Given the description of an element on the screen output the (x, y) to click on. 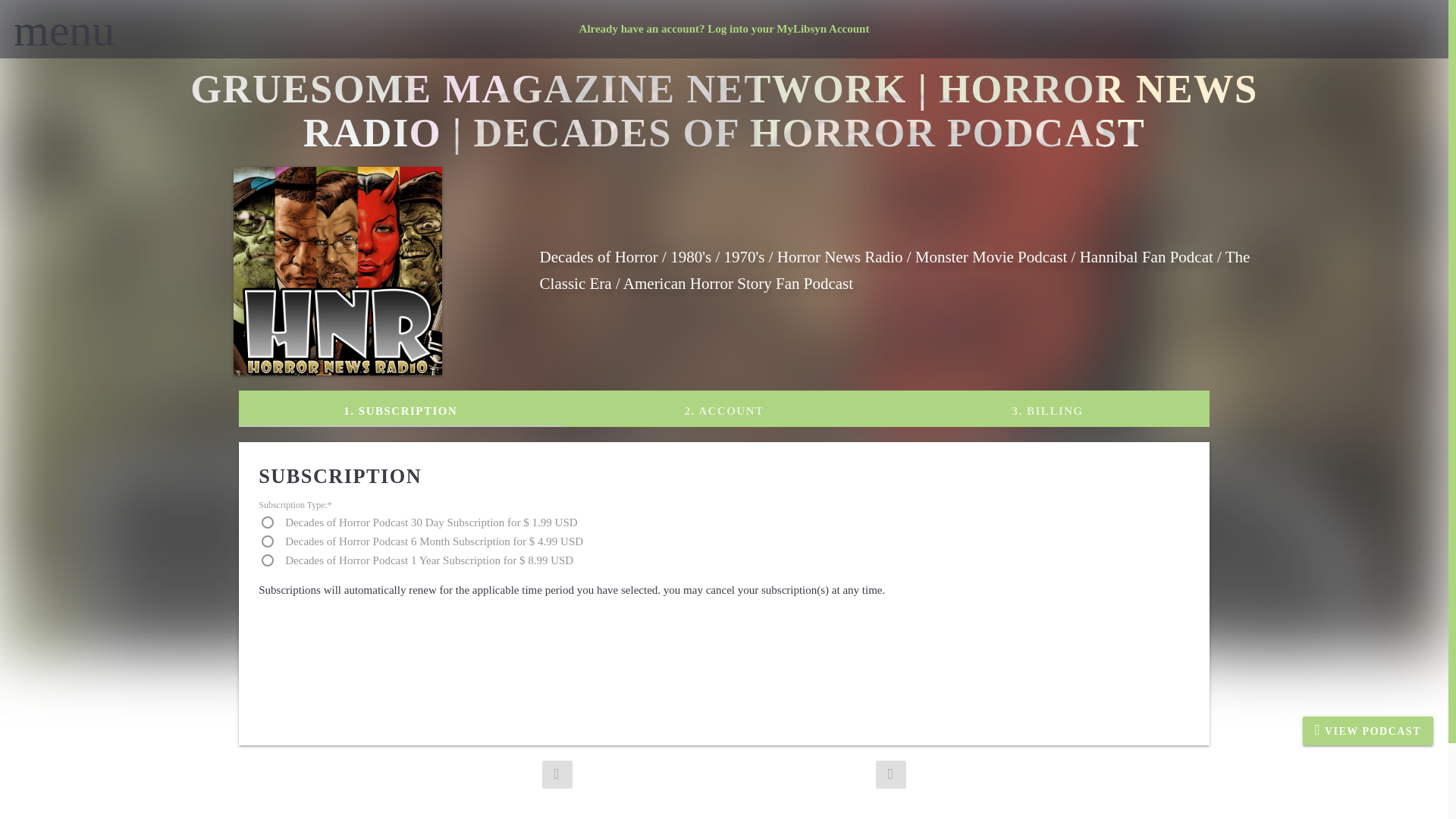
Already have an account? Log into your MyLibsyn Account (724, 28)
2. ACCOUNT (724, 407)
VIEW PODCAST (1367, 730)
menu (64, 29)
3. BILLING (1047, 407)
1. SUBSCRIPTION (400, 407)
